Given the description of an element on the screen output the (x, y) to click on. 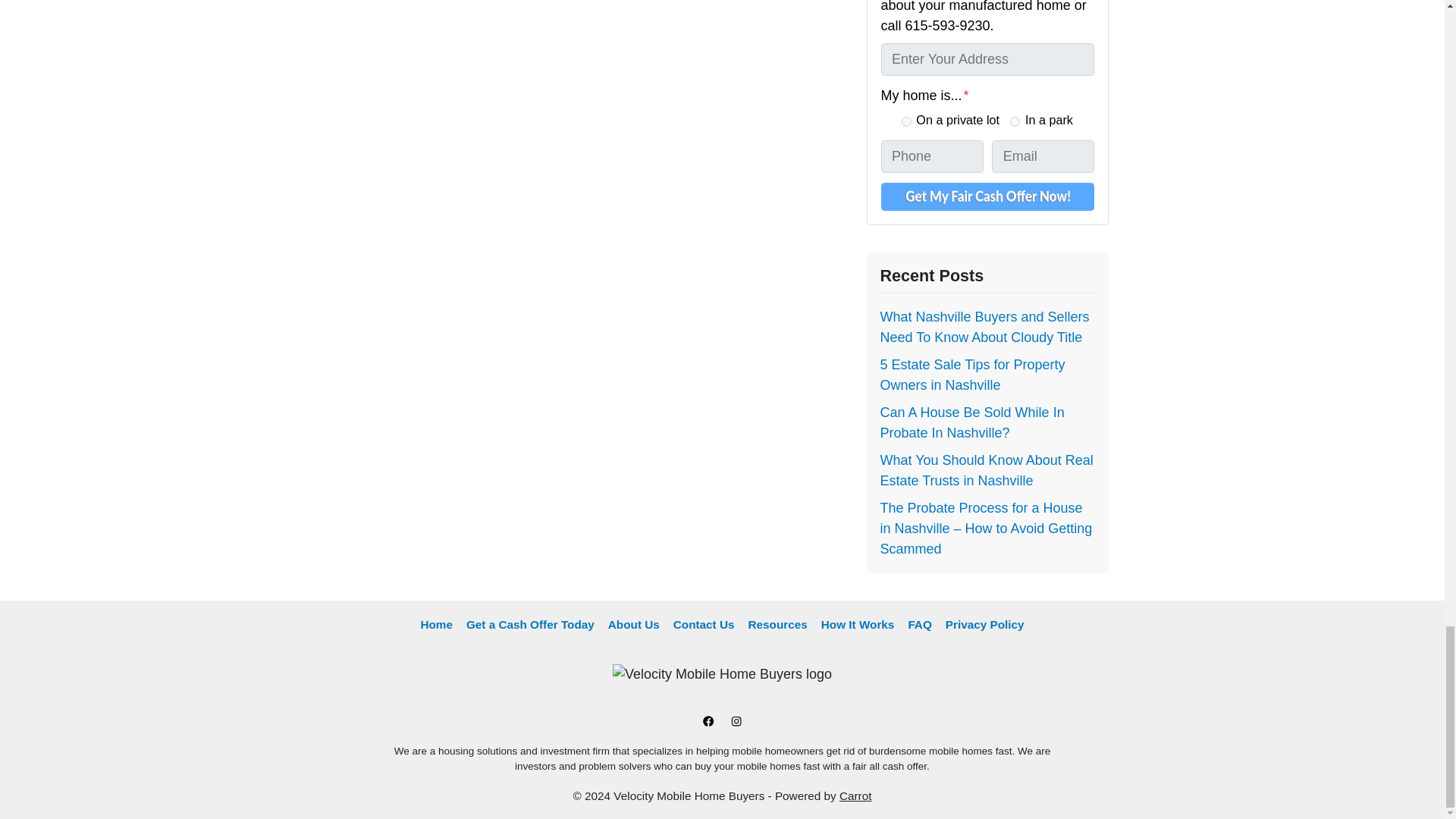
5 Estate Sale Tips for Property Owners in Nashville (971, 375)
Can A House Be Sold While In Probate In Nashville? (971, 422)
Resources (777, 625)
How It Works (857, 625)
FAQ (919, 625)
What You Should Know About Real Estate Trusts in Nashville (986, 470)
Privacy Policy (984, 625)
In a park (1015, 121)
Get a Cash Offer Today (530, 625)
